Given the description of an element on the screen output the (x, y) to click on. 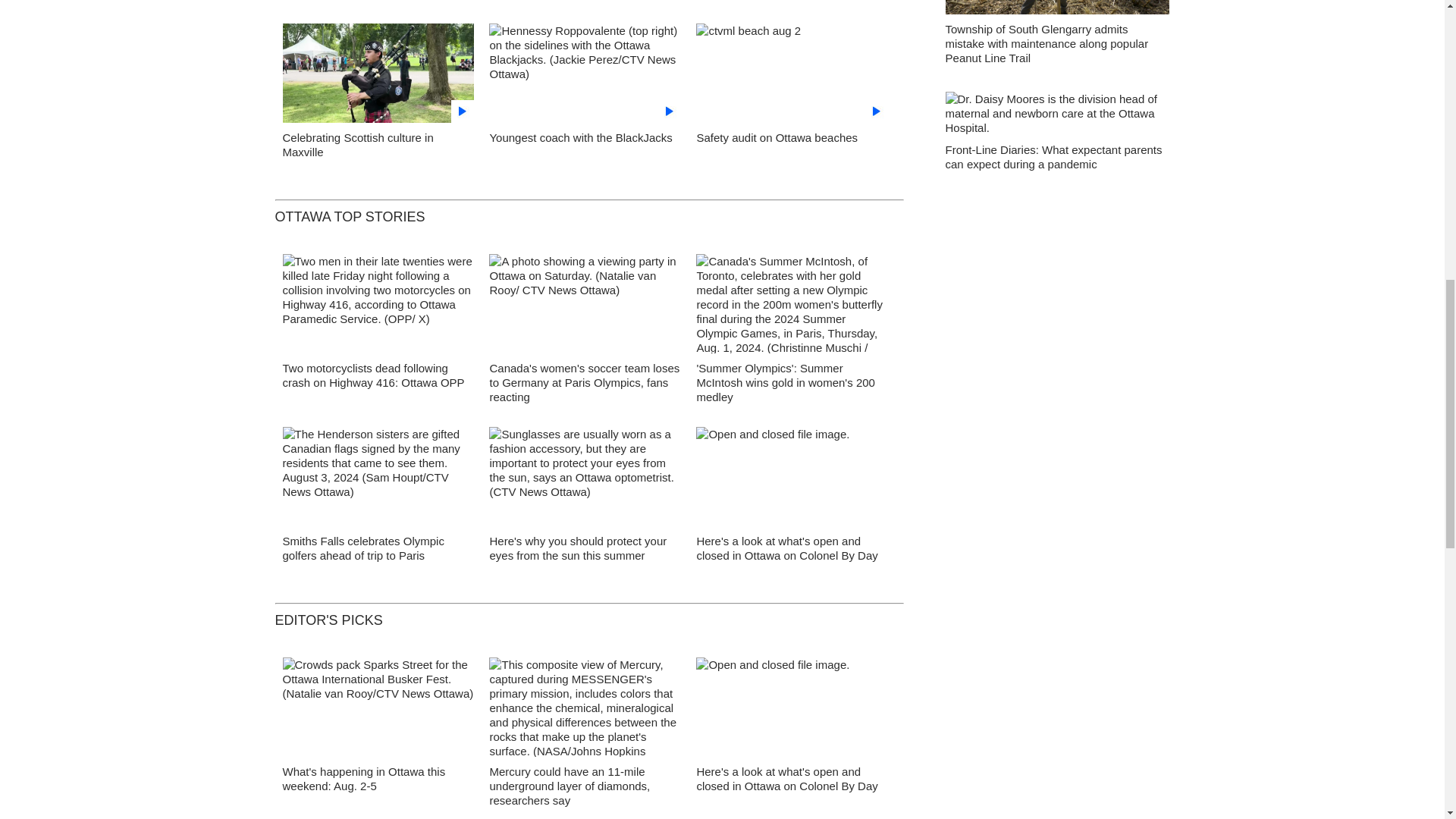
false (791, 72)
Youngest coach with the BlackJacks (580, 137)
false (585, 72)
Celebrating Scottish culture in Maxville (357, 144)
false (378, 72)
Safety audit on Ottawa beaches (776, 137)
